Given the description of an element on the screen output the (x, y) to click on. 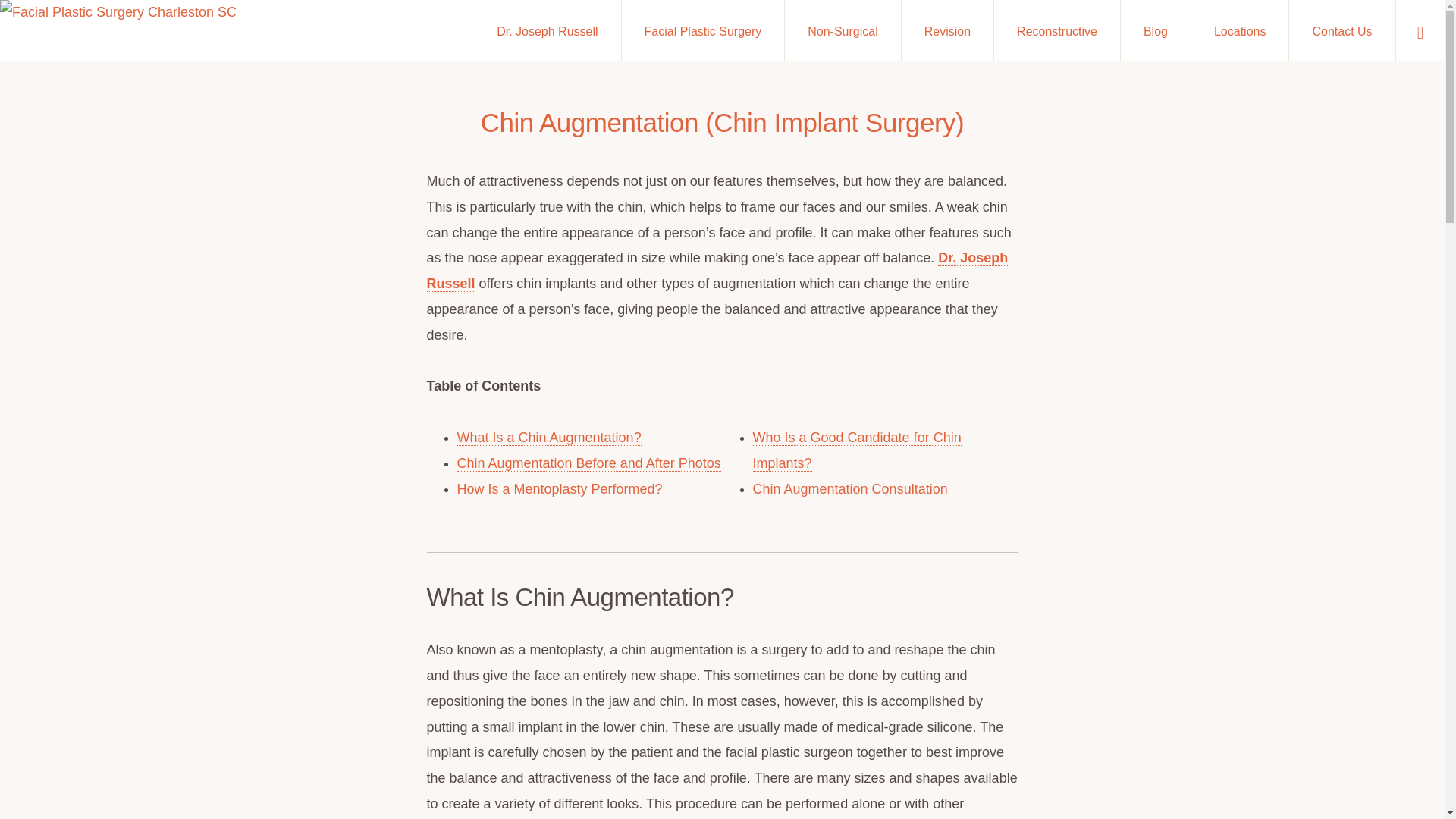
Revision (946, 30)
Facial Plastic Surgery (702, 30)
Non-Surgical (841, 30)
Dr. Joseph Russell (547, 30)
Facial Plastic Surgery Procedures (702, 30)
